Given the description of an element on the screen output the (x, y) to click on. 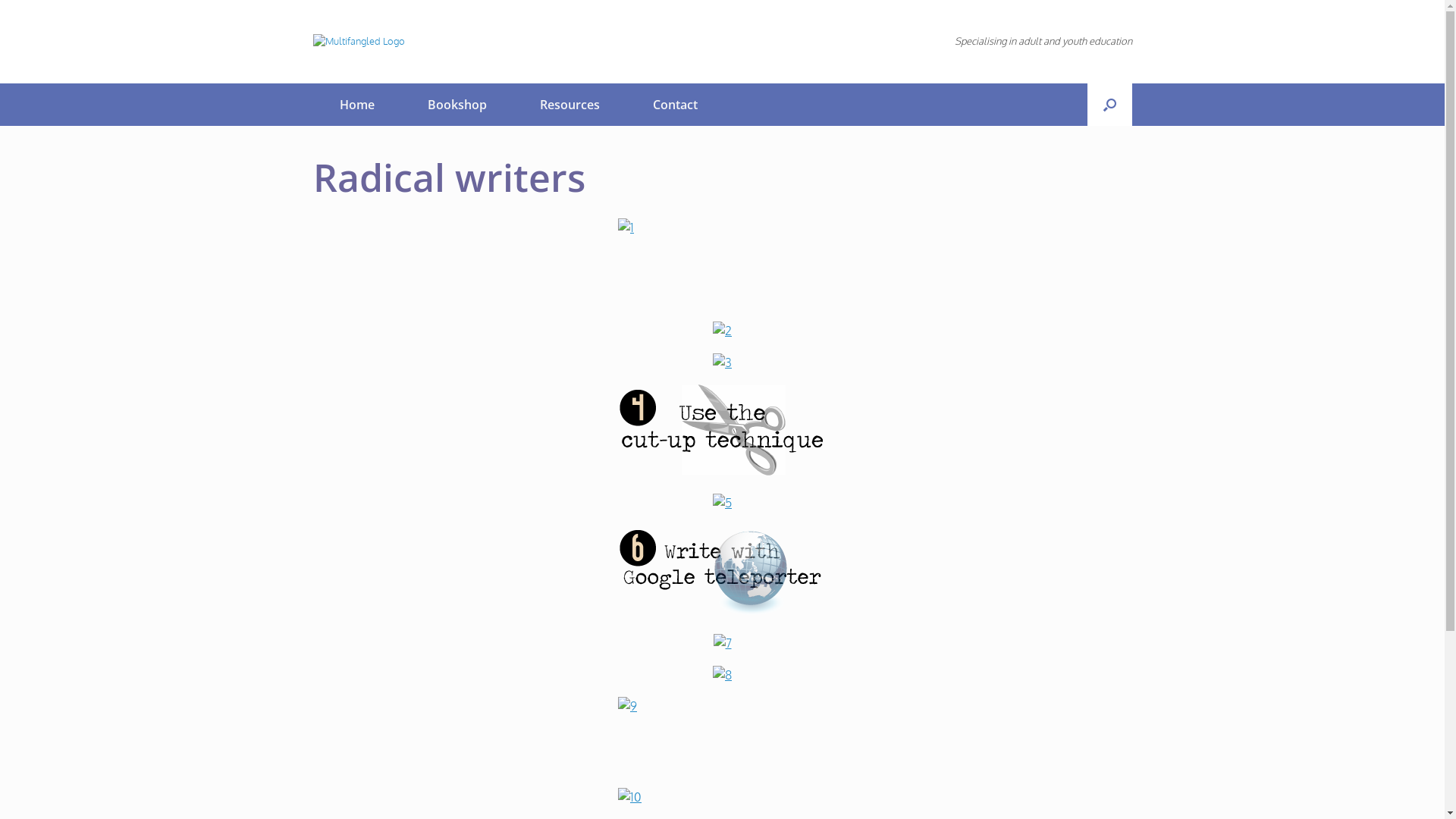
Poetry/story map Element type: hover (721, 330)
Memes Element type: hover (721, 741)
Multifangled Element type: hover (358, 41)
Home Element type: text (356, 104)
Bookshop Element type: text (456, 104)
Digital poetry Element type: hover (721, 362)
Interactive story/game writing Element type: hover (721, 674)
Fun with Twitter #moviesminusoneletter Element type: hover (721, 502)
Google teleporter Element type: hover (722, 610)
The cut-up technique Element type: hover (722, 470)
Resources Element type: text (568, 104)
Contact Element type: text (675, 104)
Video photo stories Element type: hover (721, 263)
Origami mountain Element type: hover (721, 642)
